Given the description of an element on the screen output the (x, y) to click on. 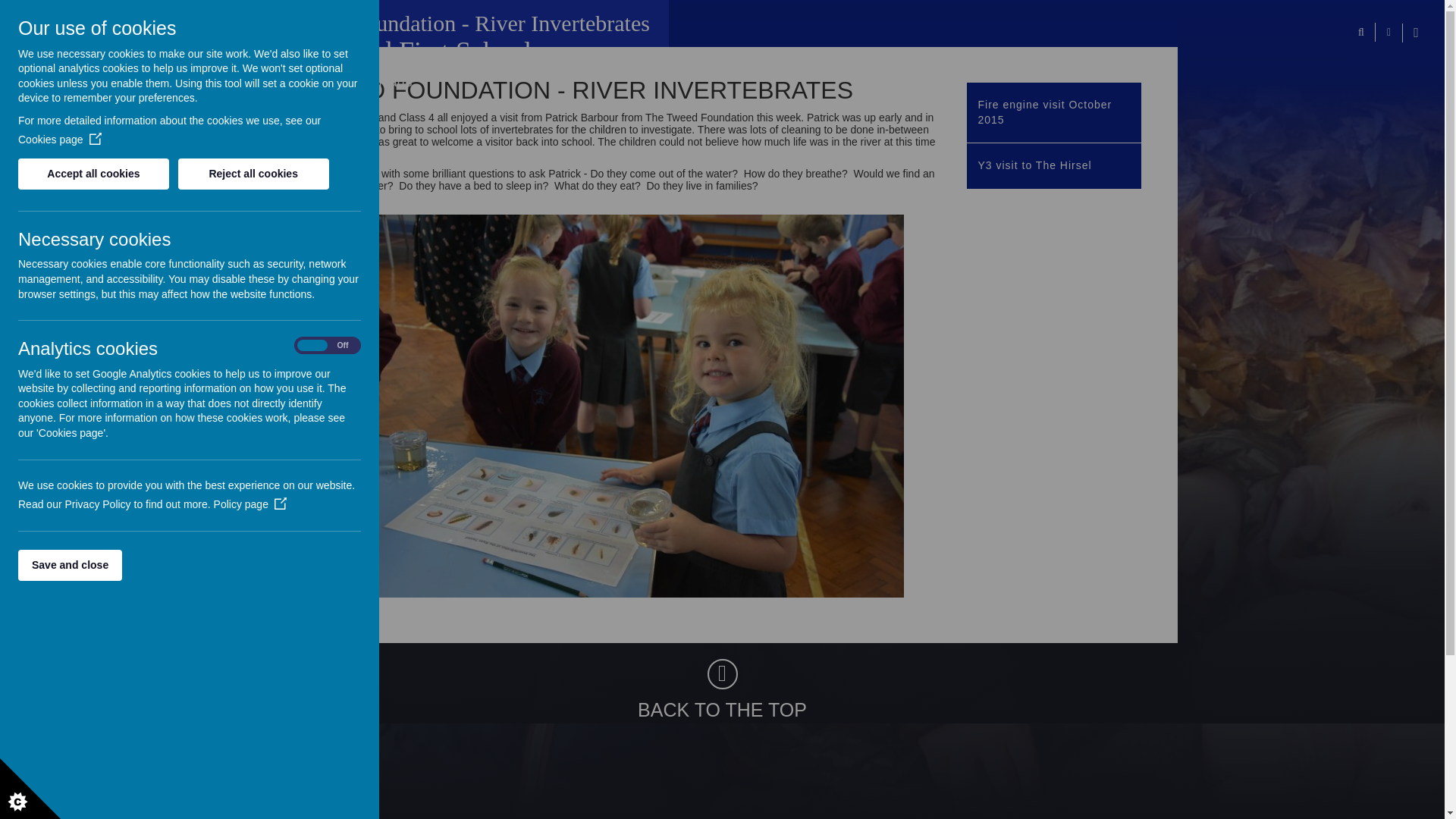
Translate (1388, 31)
on (327, 345)
Search (1361, 31)
Cookie Control Icon (30, 788)
Facebook (1415, 32)
